Given the description of an element on the screen output the (x, y) to click on. 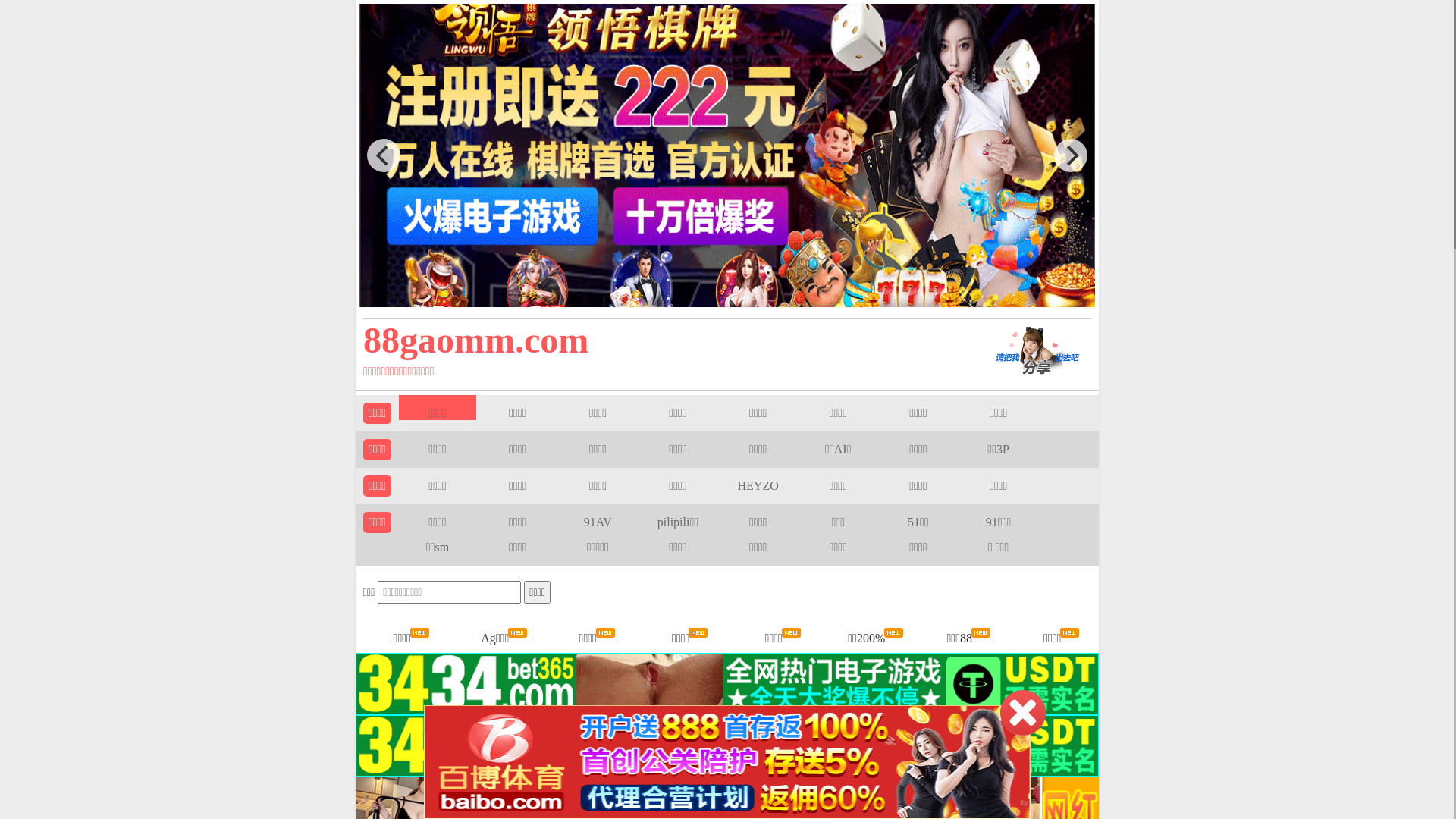
91AV Element type: text (597, 521)
88gaomm.com Element type: text (654, 339)
HEYZO Element type: text (757, 485)
